Given the description of an element on the screen output the (x, y) to click on. 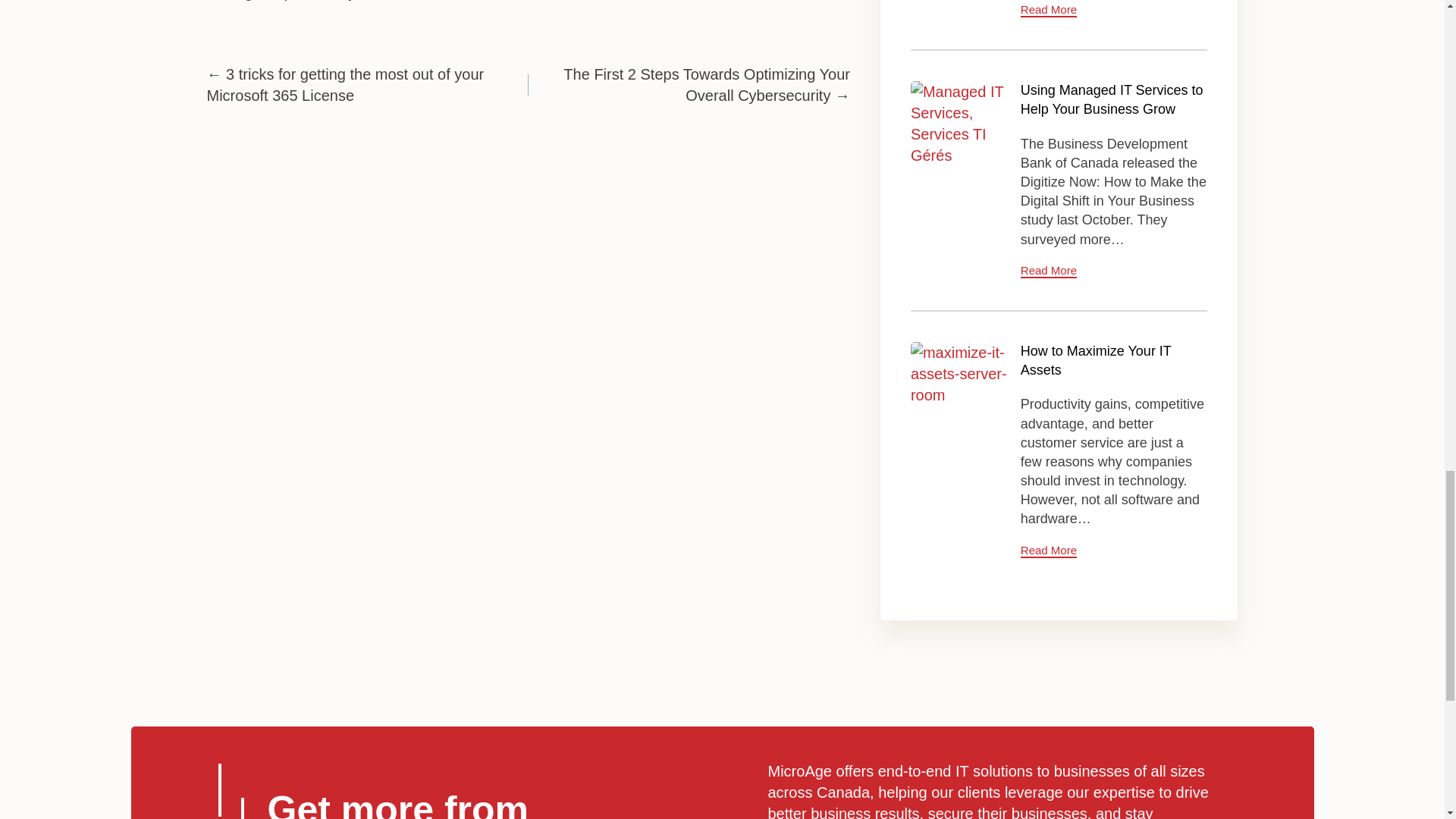
Using Managed IT Services to Help Your Business Grow (960, 130)
Read More (1048, 550)
How to Maximize Your IT Assets (1096, 360)
Using Managed IT Services to Help Your Business Grow (1112, 99)
Read More (1048, 270)
Read More (1048, 10)
How to Maximize Your IT Assets (960, 390)
